Given the description of an element on the screen output the (x, y) to click on. 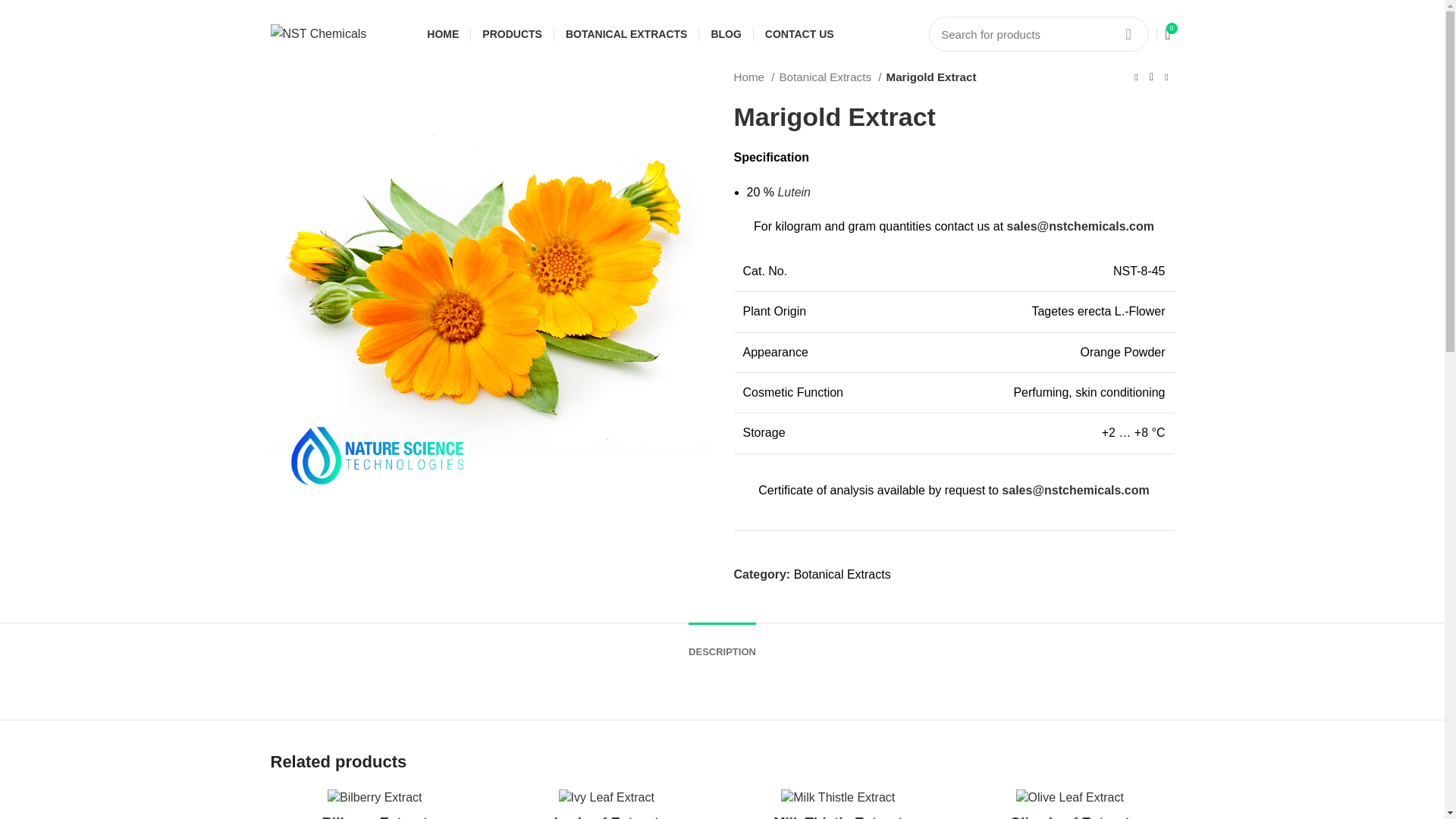
BOTANICAL EXTRACTS (625, 33)
HOME (442, 33)
Bilberry Extract (374, 816)
CONTACT US (799, 33)
Botanical Extracts (842, 574)
Search for products (1038, 33)
Milk Thistle Extract (837, 816)
Lutein (793, 192)
PRODUCTS (512, 33)
Ivy Leaf Extract (606, 816)
Home (753, 76)
BLOG (725, 33)
DESCRIPTION (721, 644)
SEARCH (1128, 33)
